Given the description of an element on the screen output the (x, y) to click on. 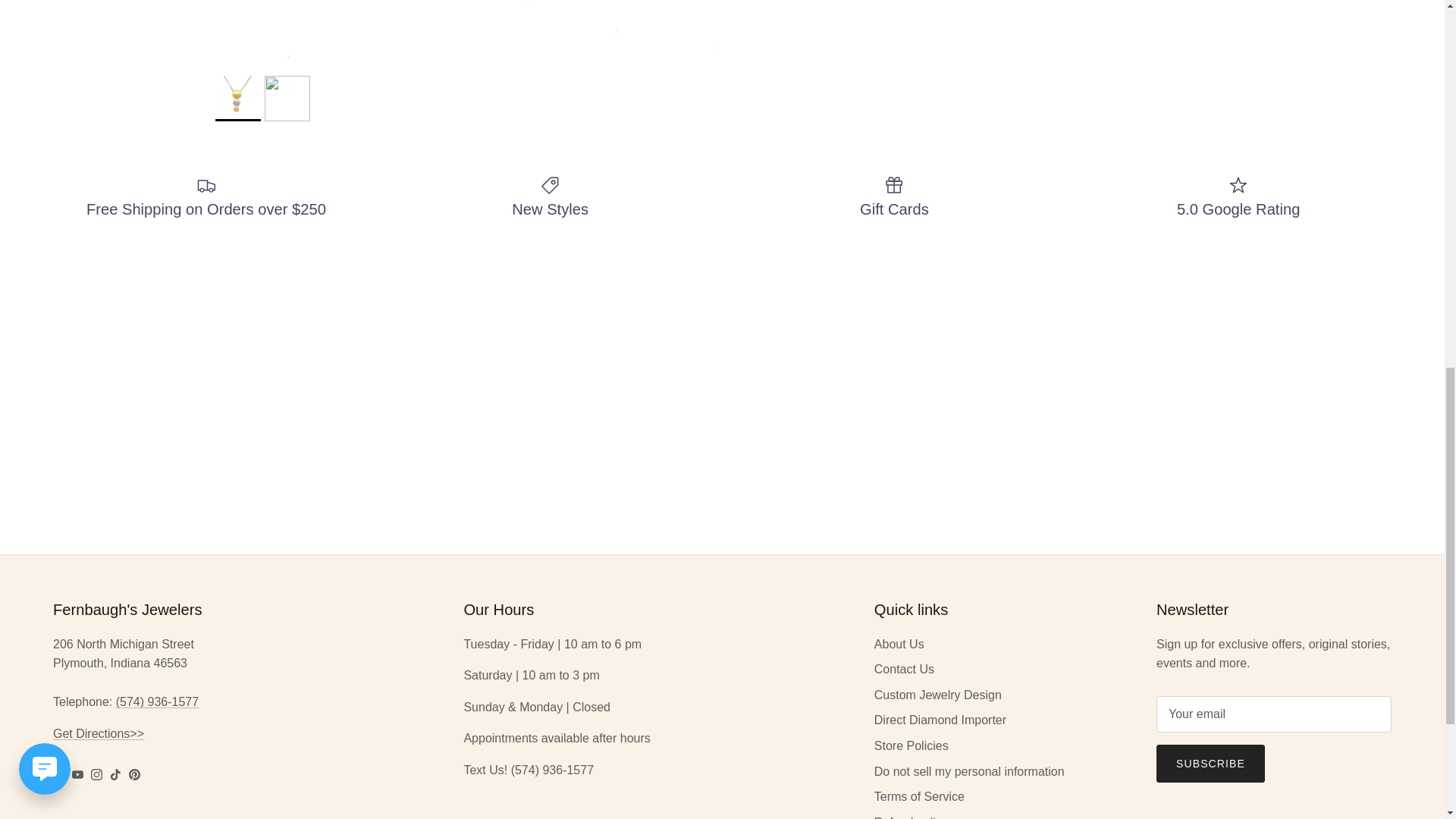
Fernbaugh's Jewelers on Facebook (58, 774)
Fernbaugh's Jewelers on TikTok (115, 774)
tel:15749361577 (157, 701)
Fernbaugh's Jewelers on YouTube (76, 774)
Fernbaugh's Jewelers on Instagram (95, 774)
Fernbaugh's Jewelers on Pinterest (134, 774)
